Given the description of an element on the screen output the (x, y) to click on. 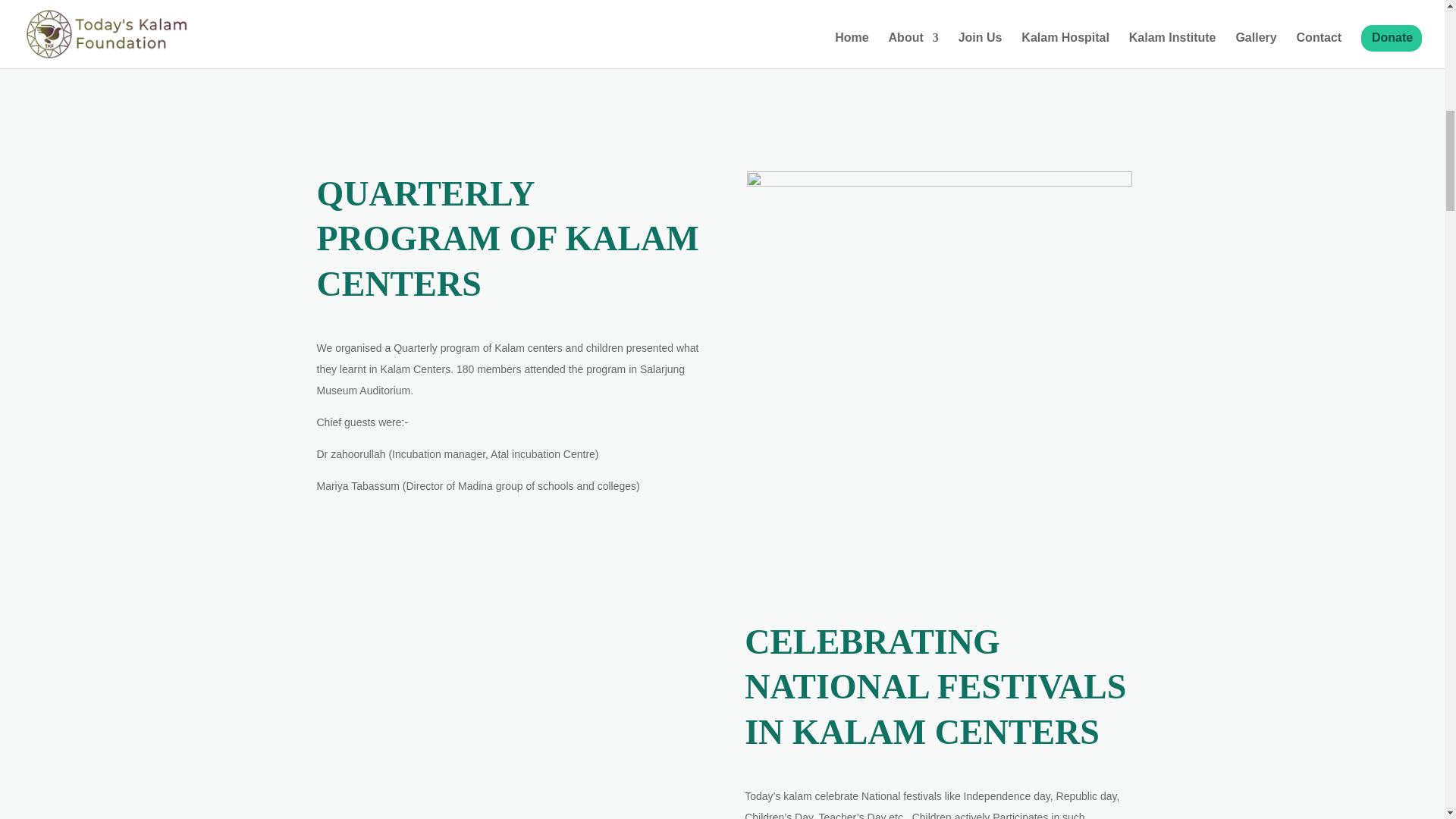
charity-28 (939, 182)
